Given the description of an element on the screen output the (x, y) to click on. 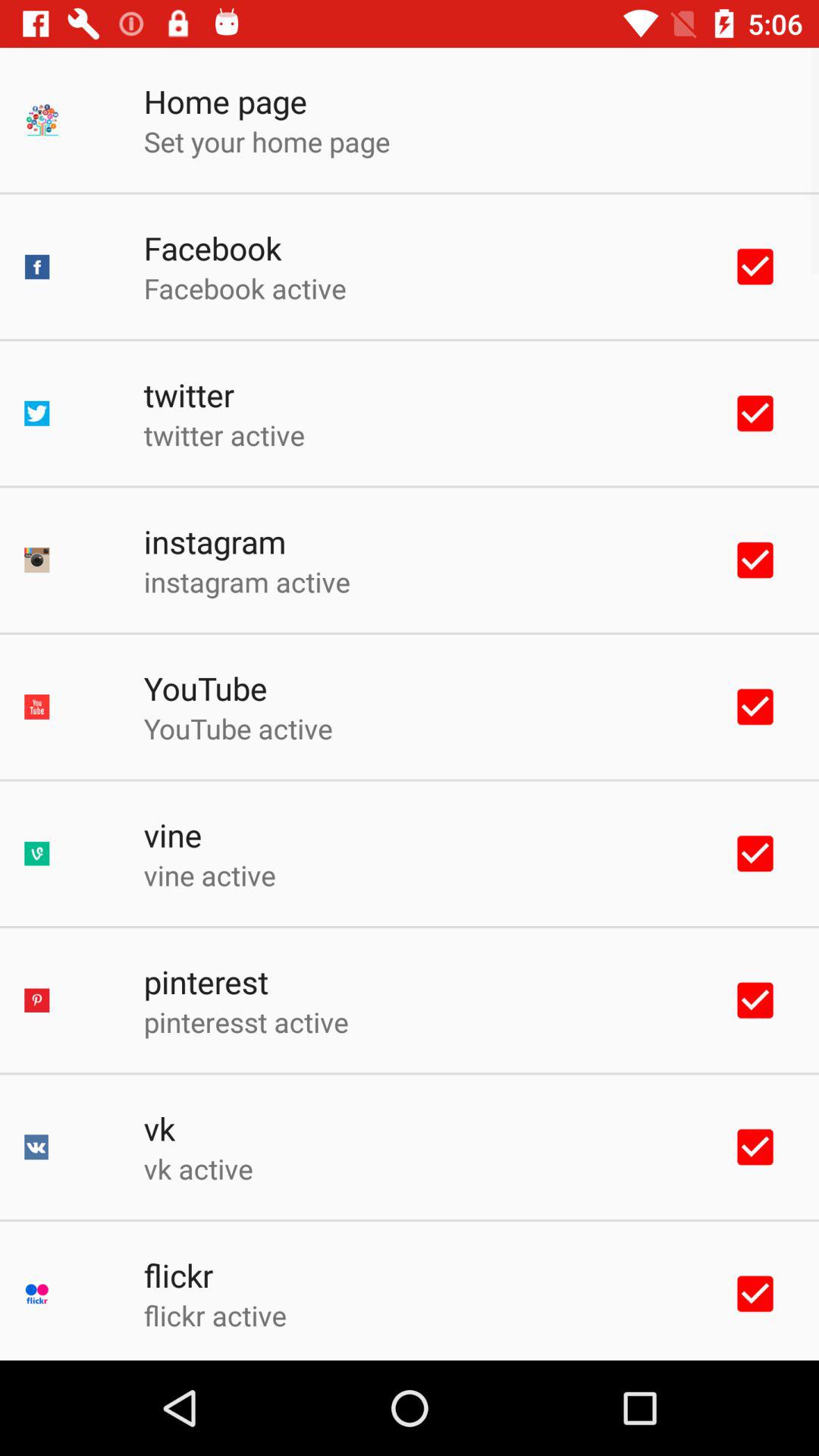
press instagram active icon (246, 581)
